Given the description of an element on the screen output the (x, y) to click on. 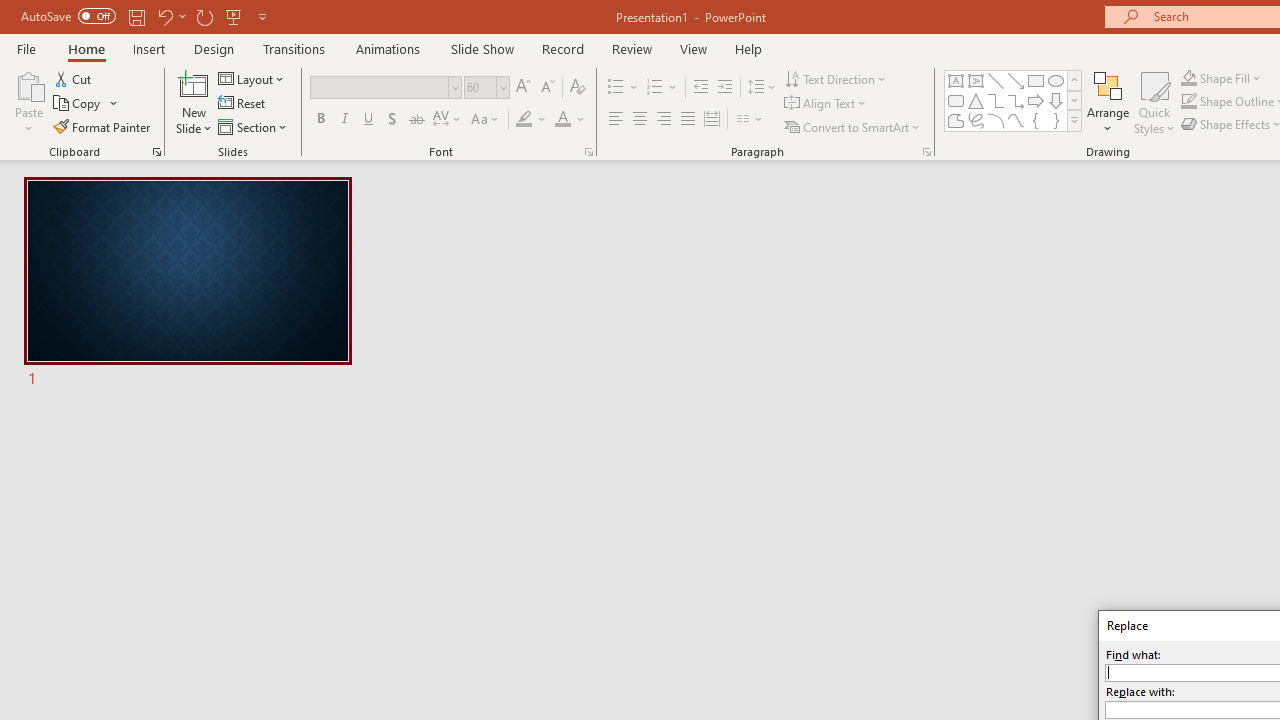
Line Arrow (1016, 80)
Shape Fill (1221, 78)
Increase Font Size (522, 87)
Bold (320, 119)
Connector: Elbow Arrow (1016, 100)
Right Brace (1055, 120)
Office Clipboard... (156, 151)
Convert to SmartArt (853, 126)
Vertical Text Box (975, 80)
Text Box (955, 80)
Line (995, 80)
